Given the description of an element on the screen output the (x, y) to click on. 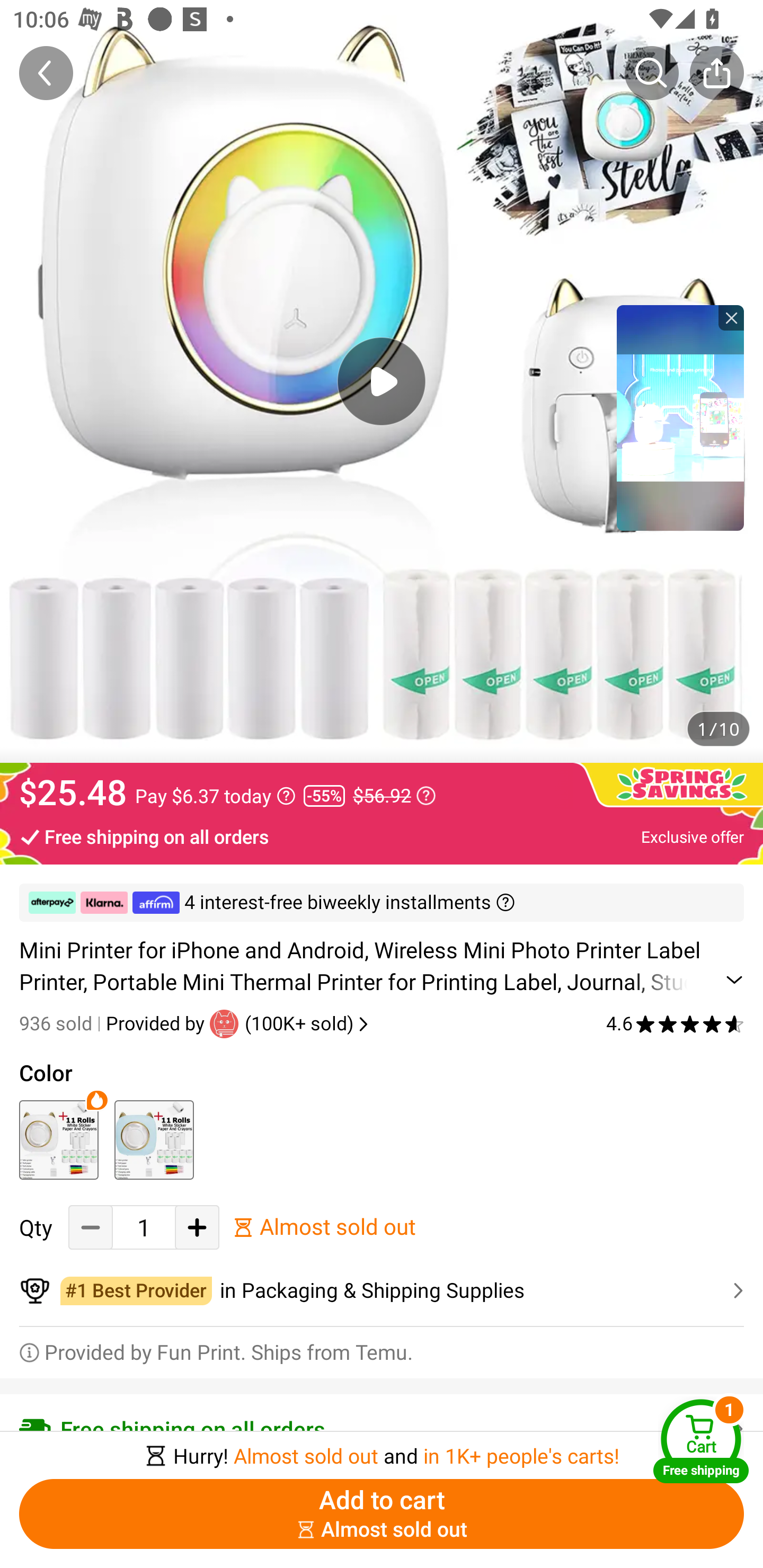
Back (46, 72)
Share (716, 72)
tronplayer_view (680, 417)
Pay $6.37 today   (215, 795)
Free shipping on all orders Exclusive offer (381, 836)
￼ ￼ ￼ 4 interest-free biweekly installments ￼ (381, 902)
936 sold Provided by  (114, 1023)
4.6 (674, 1023)
Mini Printer-White   (58, 1139)
Mini Printer-Blue (153, 1139)
Decrease Quantity Button (90, 1227)
1 (143, 1227)
Add Quantity button (196, 1227)
￼￼in Packaging & Shipping Supplies (381, 1290)
Cart Free shipping Cart (701, 1440)
Add to cart ￼￼Almost sold out (381, 1513)
